Given the description of an element on the screen output the (x, y) to click on. 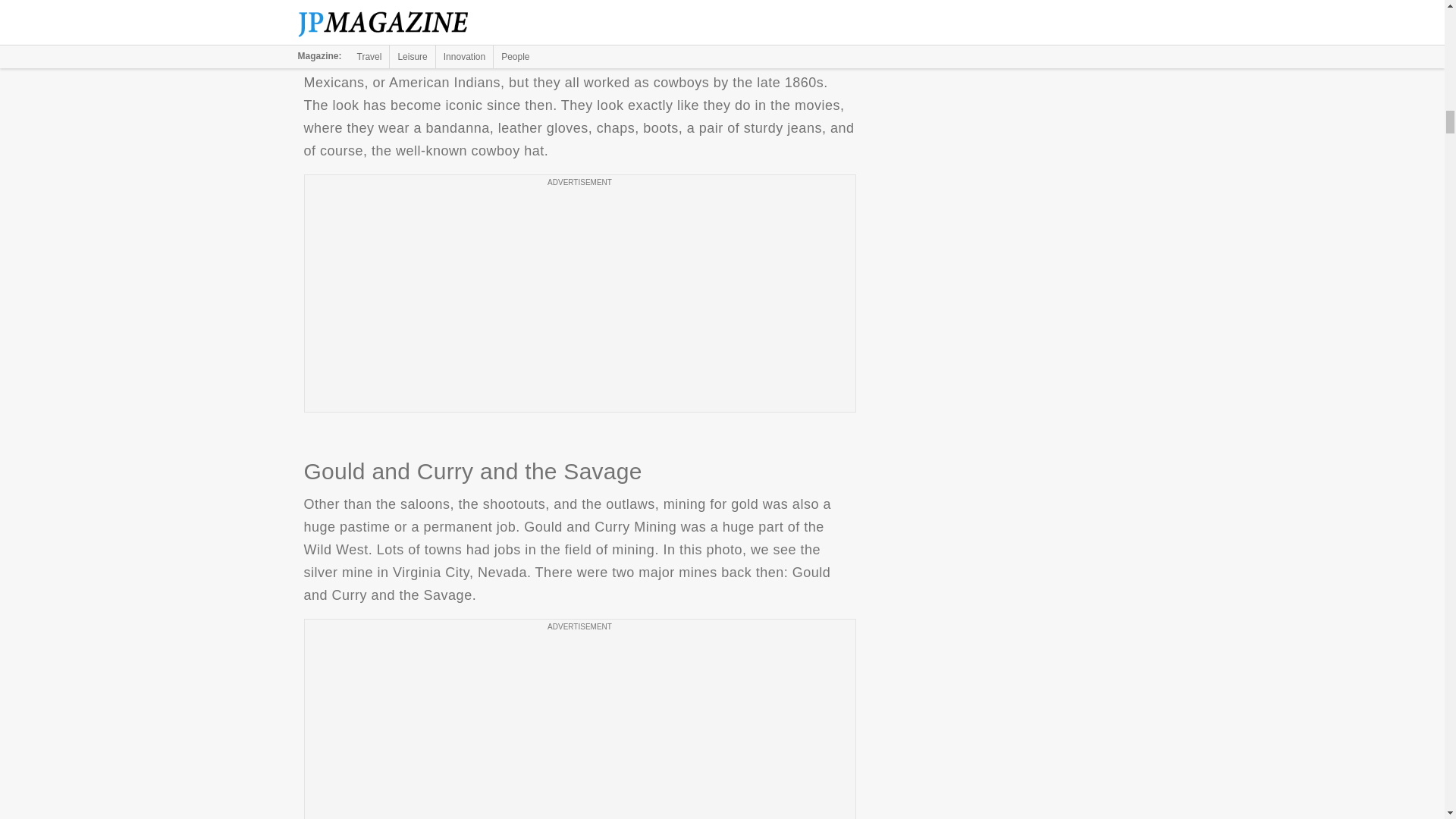
The Cowboy Look (579, 11)
